Given the description of an element on the screen output the (x, y) to click on. 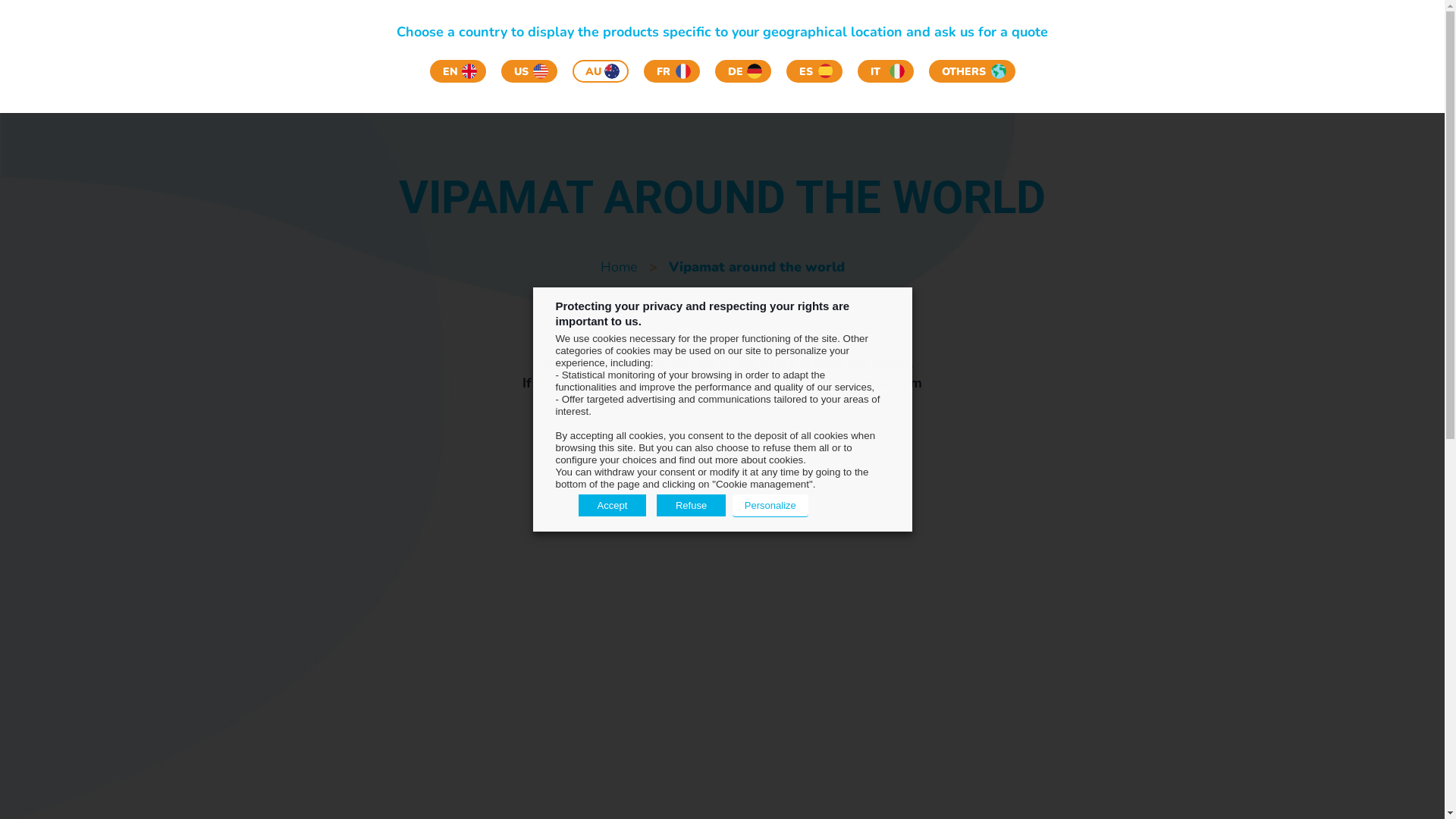
IT Element type: text (884, 70)
Accept Element type: text (611, 505)
Vipamat Element type: hover (262, 49)
Beach and All-terrain Element type: text (722, 64)
Refuse Element type: text (690, 505)
AU Element type: text (599, 70)
COMMUNITIES Element type: text (972, 18)
Home Element type: text (618, 266)
ES Element type: text (813, 70)
Personalize Element type: text (770, 505)
Marathon and Trail Element type: text (902, 64)
US Element type: text (528, 70)
FR Element type: text (671, 70)
DE Element type: text (742, 70)
OUR
PRODUCTS Element type: text (588, 67)
EN Element type: text (457, 70)
DEALERS Element type: text (902, 18)
CONTACT Element type: text (1045, 18)
OTHERS Element type: text (971, 70)
Pool Element type: text (1016, 64)
Information request Element type: text (1157, 63)
ABOUT VIPAMAT Element type: text (825, 18)
NEWS Element type: text (755, 18)
